Given the description of an element on the screen output the (x, y) to click on. 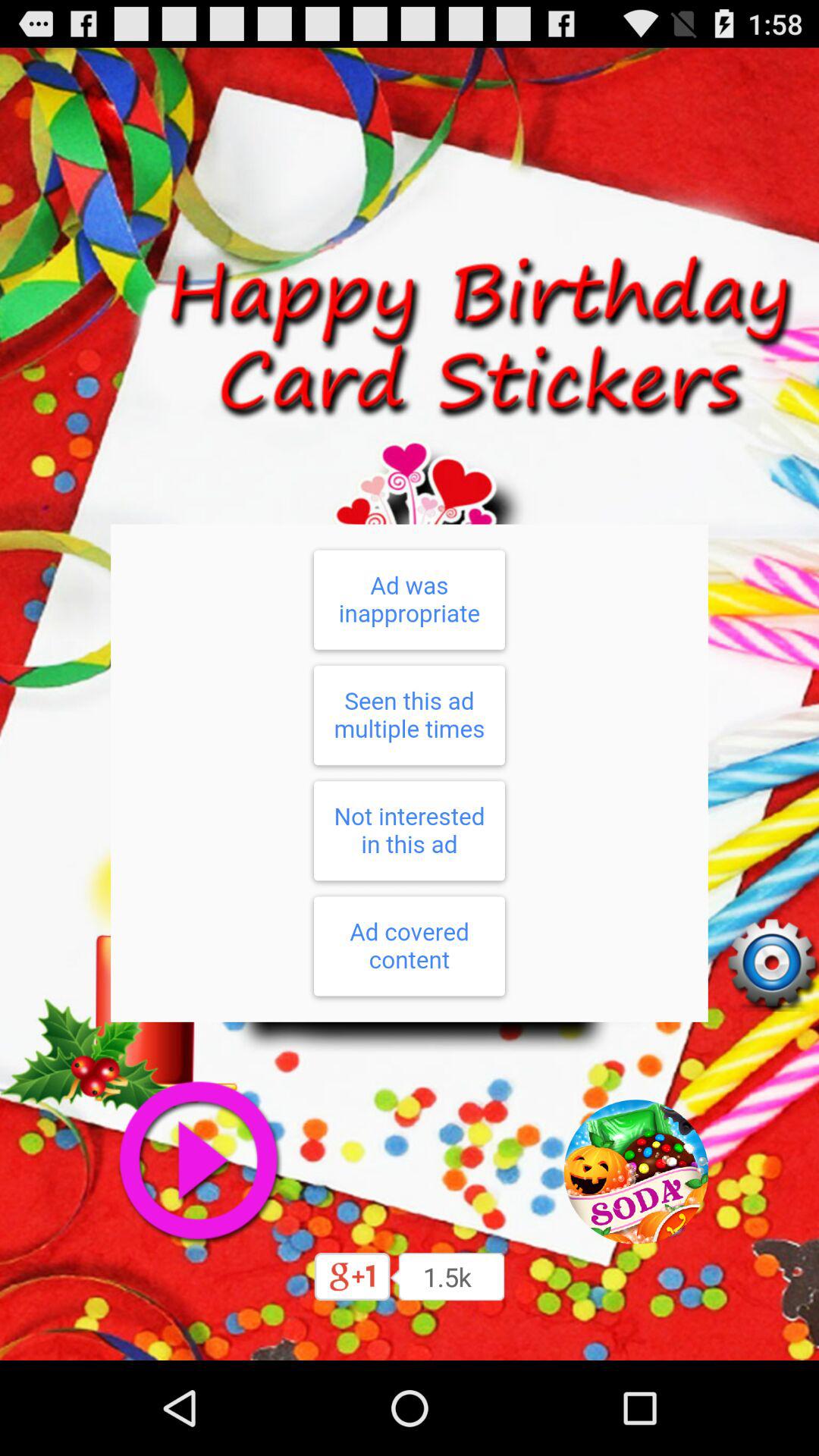
play the application (197, 1160)
